Given the description of an element on the screen output the (x, y) to click on. 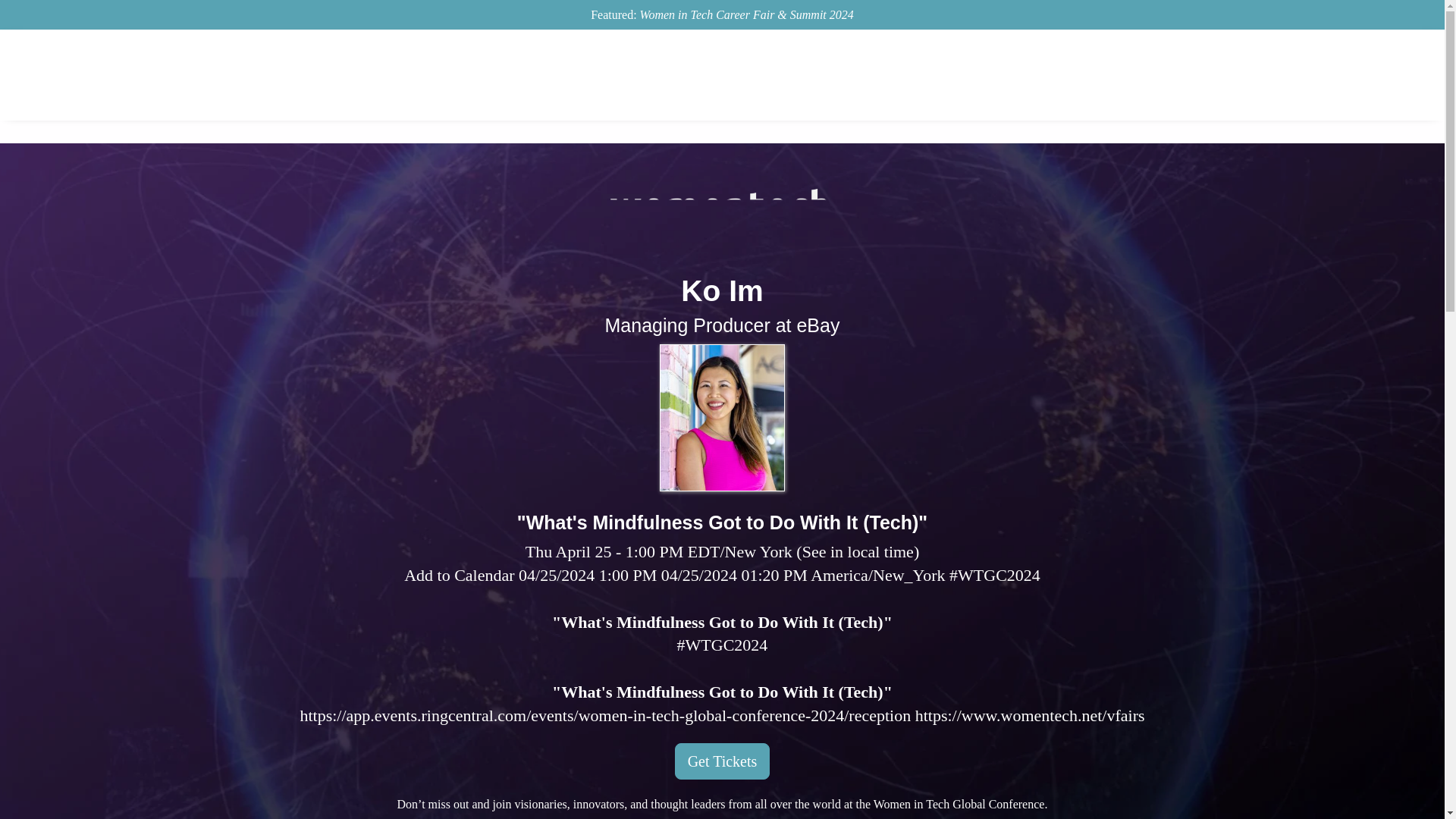
Women in Tech Global Conference 2024 (722, 219)
